Given the description of an element on the screen output the (x, y) to click on. 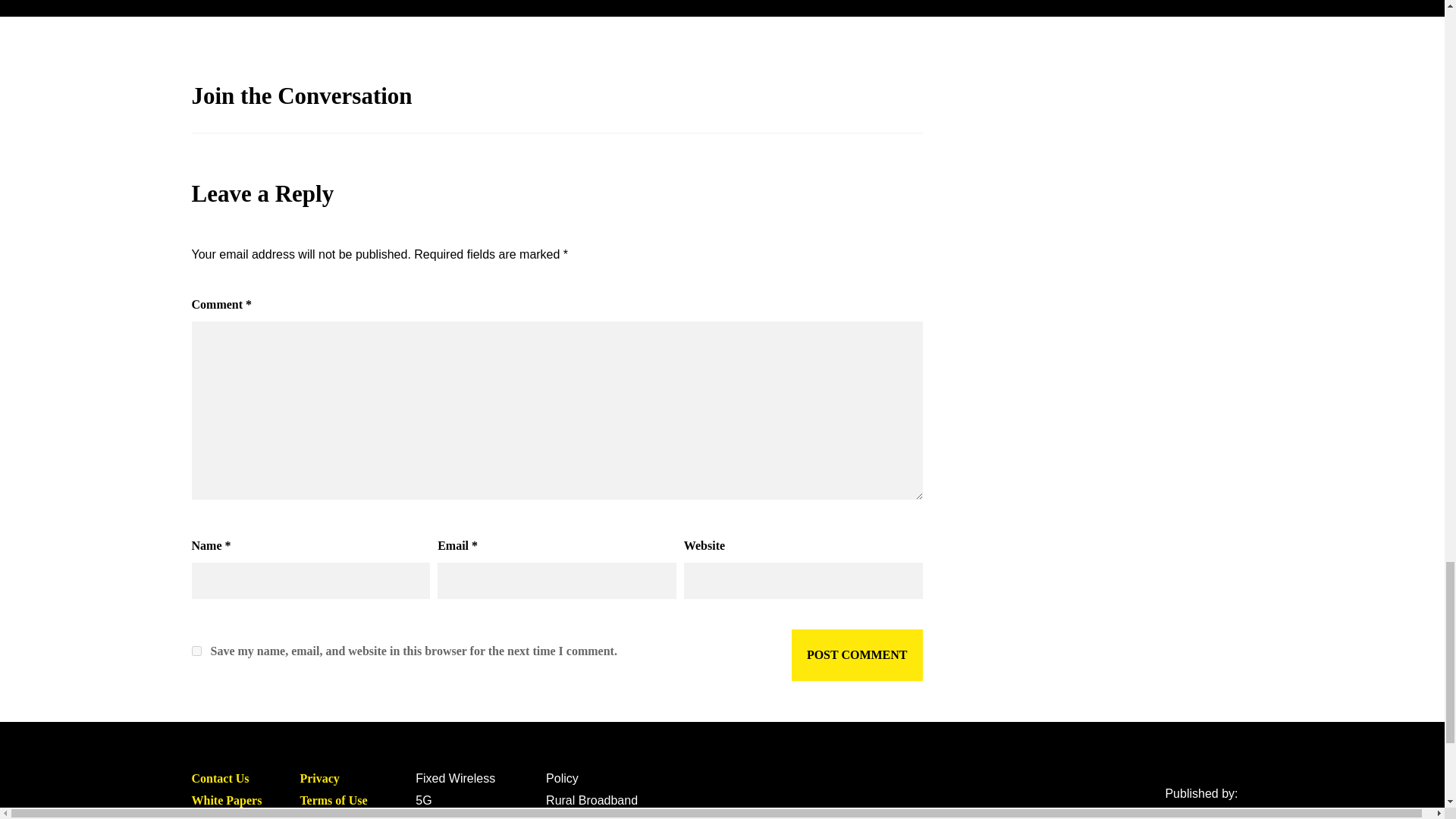
Post Comment (857, 654)
yes (195, 651)
